Given the description of an element on the screen output the (x, y) to click on. 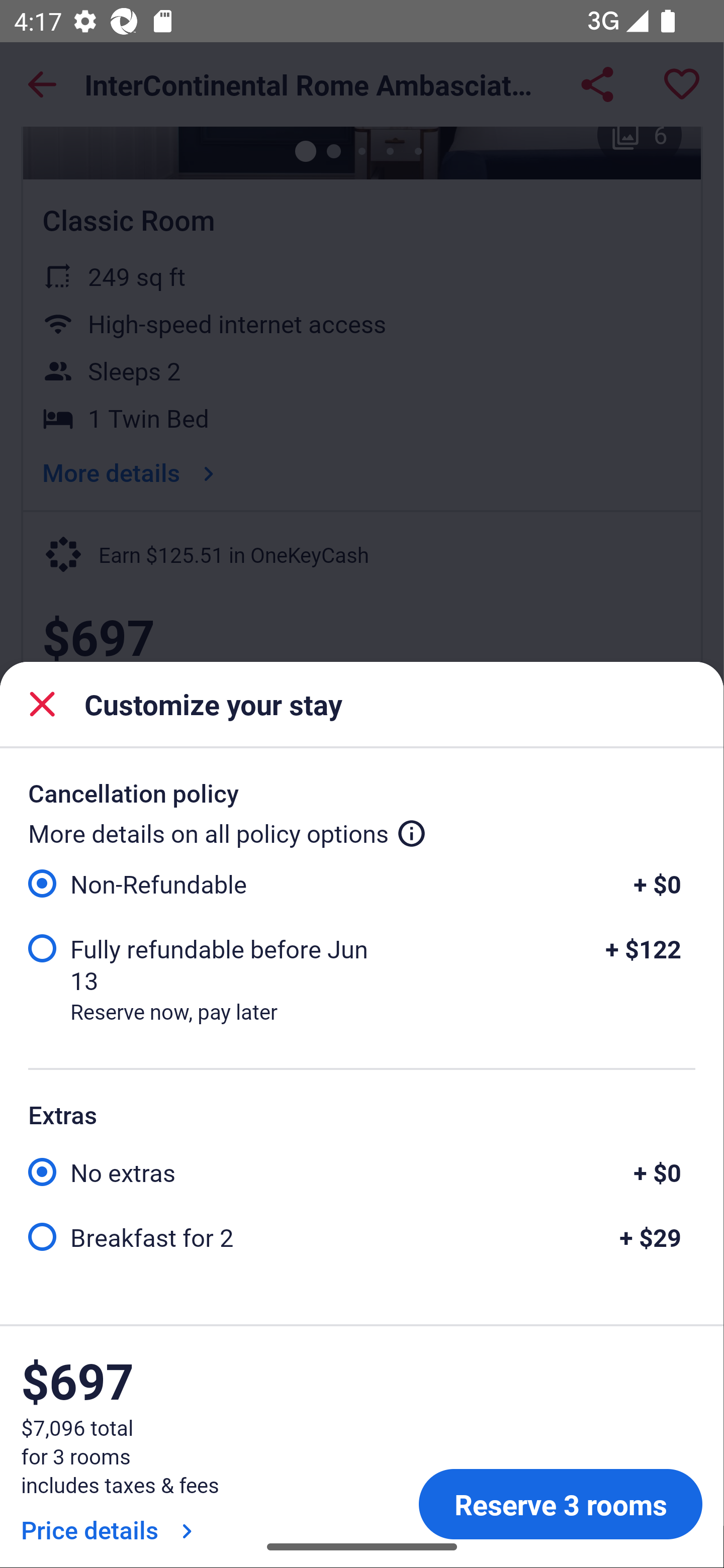
Close sheet (42, 703)
Breakfast for 2 + $29 (361, 1235)
